Given the description of an element on the screen output the (x, y) to click on. 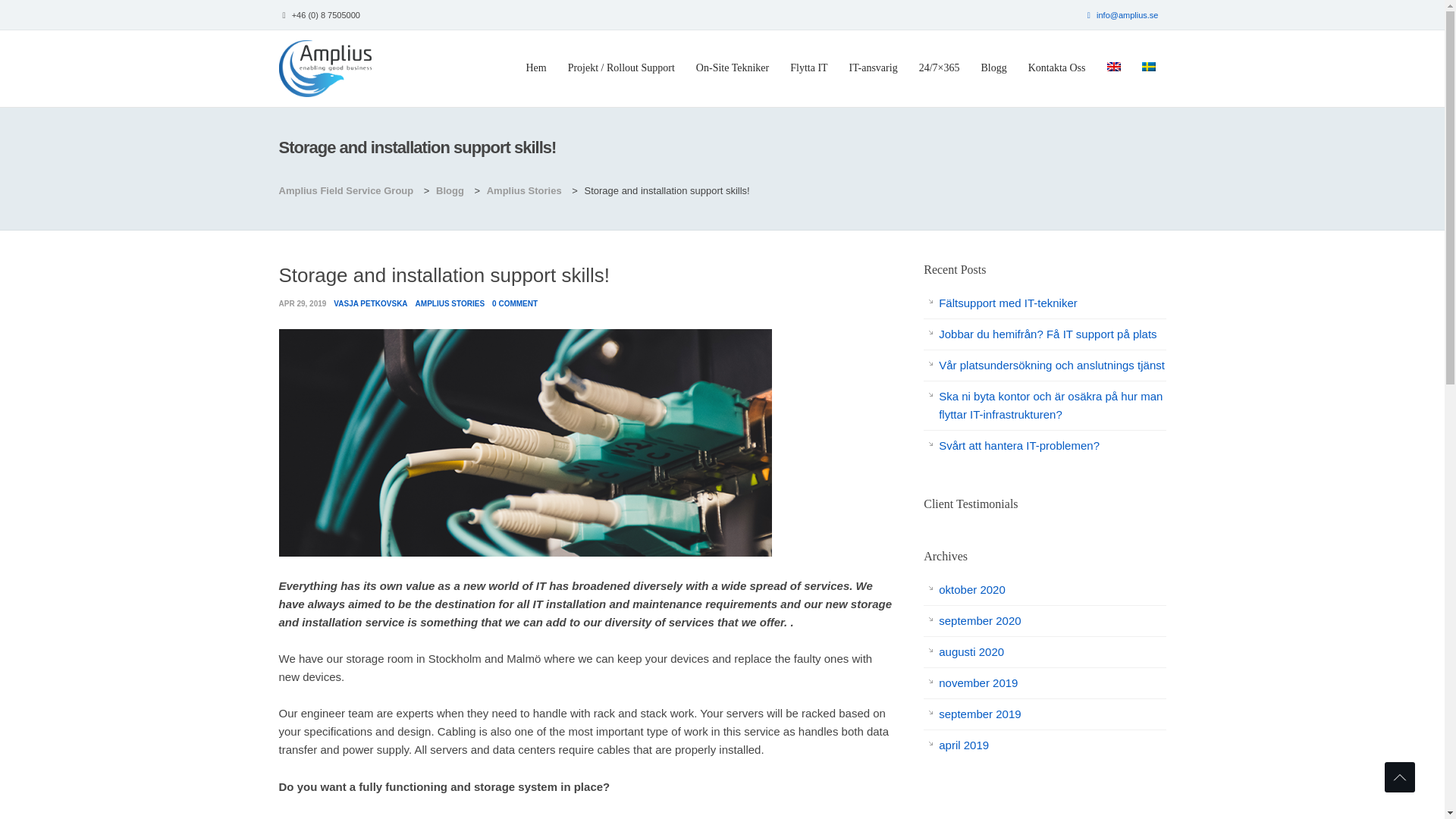
november 2019 (978, 682)
IT-ansvarig (873, 68)
Kontakta Oss (1056, 68)
augusti 2020 (971, 651)
Amplius Field Service Group (348, 190)
september 2019 (979, 713)
september 2020 (979, 620)
Go to the Amplius Stories Kategori archives. (526, 190)
Amplius Field Service Group (325, 66)
Blogg (451, 190)
Permanent Link to Storage and installation support skills! (525, 552)
VASJA PETKOVSKA (370, 303)
oktober 2020 (972, 589)
Amplius Stories (526, 190)
0 COMMENT (514, 303)
